Given the description of an element on the screen output the (x, y) to click on. 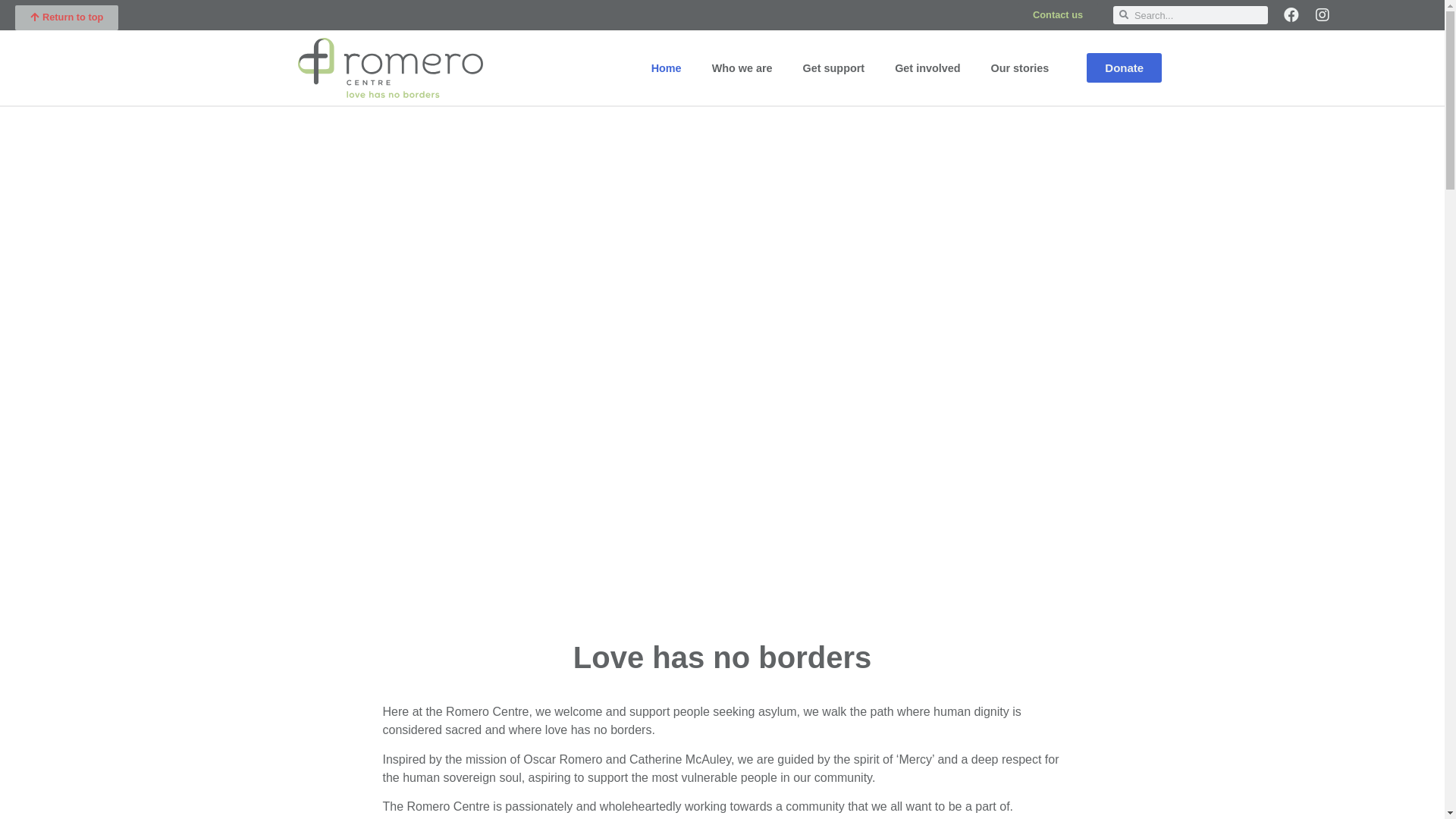
Get involved Element type: text (927, 67)
Contact us Element type: text (1057, 15)
Our stories Element type: text (1019, 67)
Get support Element type: text (833, 67)
Who we are Element type: text (741, 67)
Donate Element type: text (1123, 67)
Return to top Element type: text (66, 17)
Home Element type: text (666, 67)
